Given the description of an element on the screen output the (x, y) to click on. 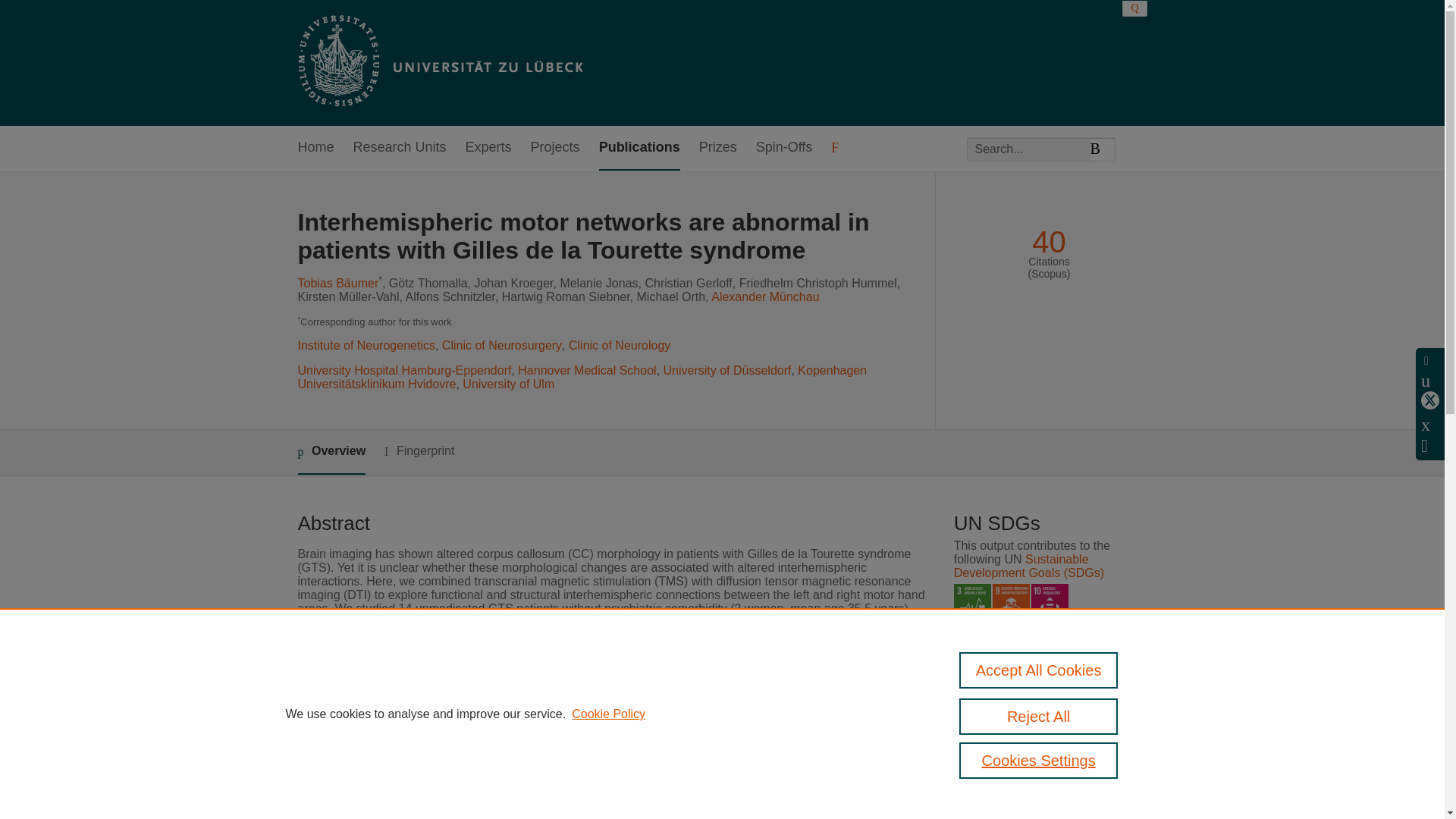
Projects (555, 148)
Hannover Medical School (587, 369)
Link to publication in Scopus (1045, 726)
Publications (638, 148)
Experts (488, 148)
SDG 9 - Industry, Innovation, and Infrastructure (1010, 601)
Movement Disorders (565, 813)
40 (1048, 242)
Research Units (399, 148)
